Given the description of an element on the screen output the (x, y) to click on. 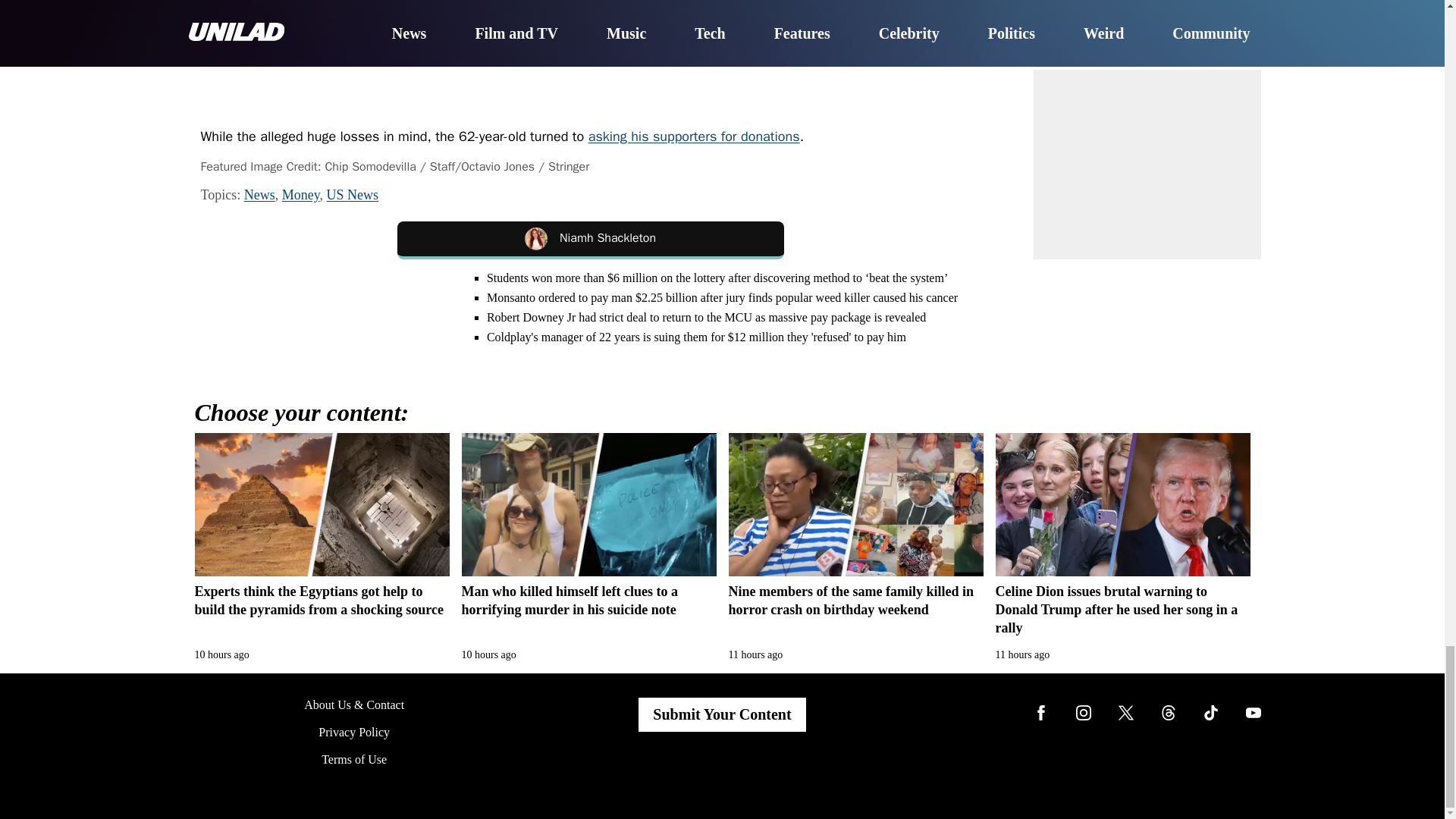
Money (301, 194)
US News (352, 194)
News (259, 194)
asking his supporters for donations (693, 135)
